Given the description of an element on the screen output the (x, y) to click on. 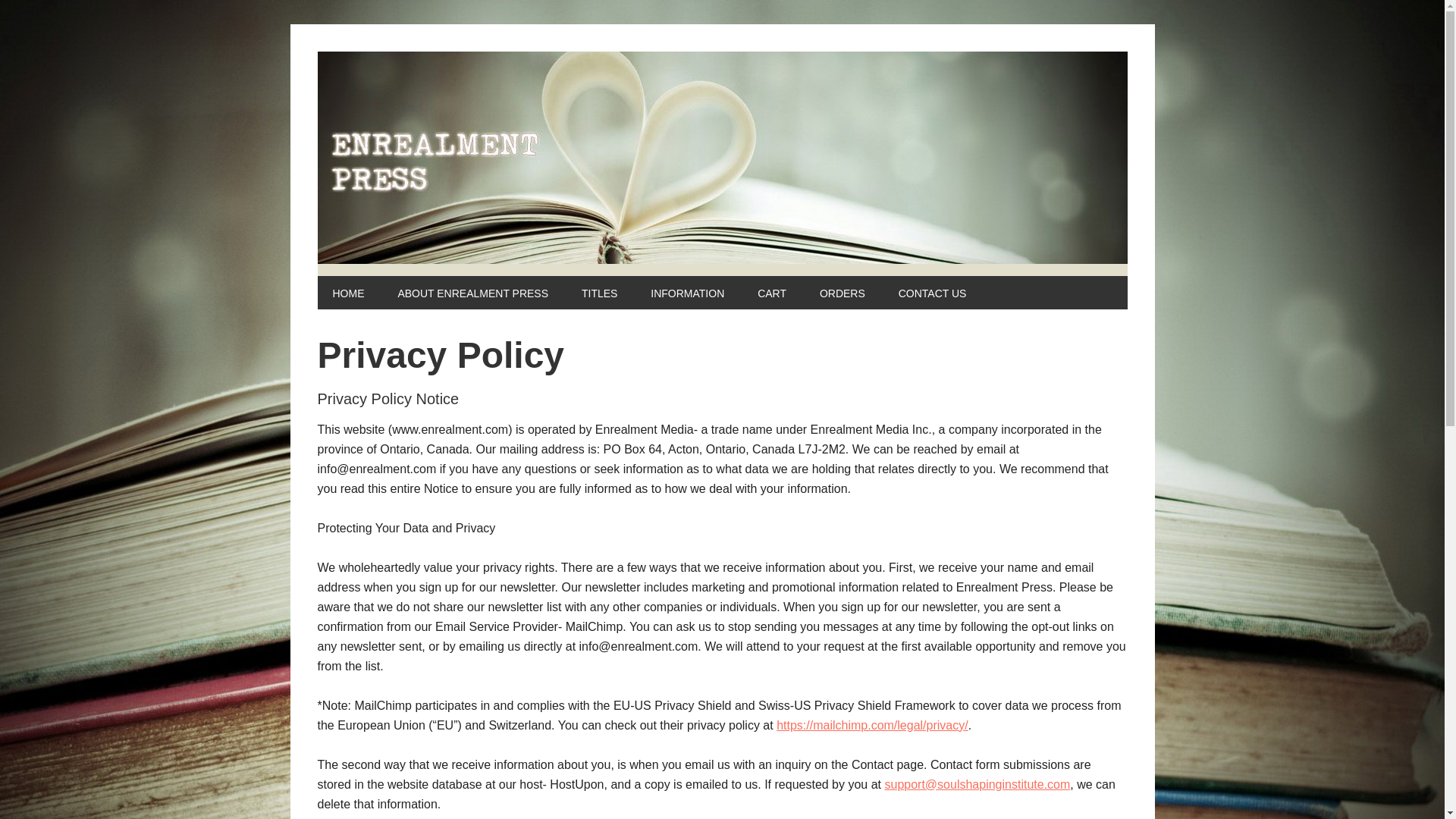
HOME (347, 292)
INFORMATION (686, 292)
CART (772, 292)
ORDERS (842, 292)
CONTACT US (932, 292)
ABOUT ENREALMENT PRESS (472, 292)
TITLES (598, 292)
